Given the description of an element on the screen output the (x, y) to click on. 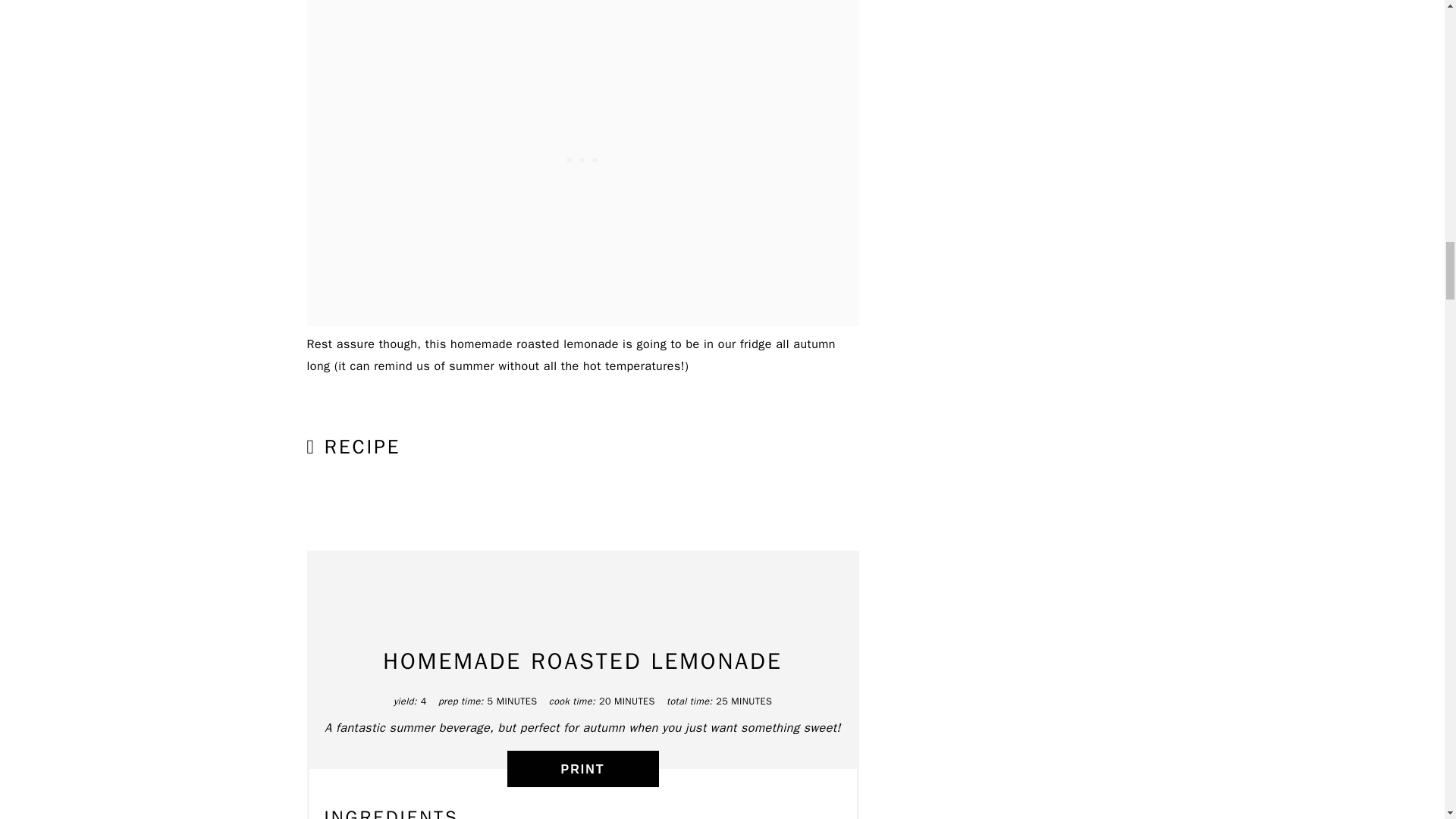
PRINT (582, 769)
